Given the description of an element on the screen output the (x, y) to click on. 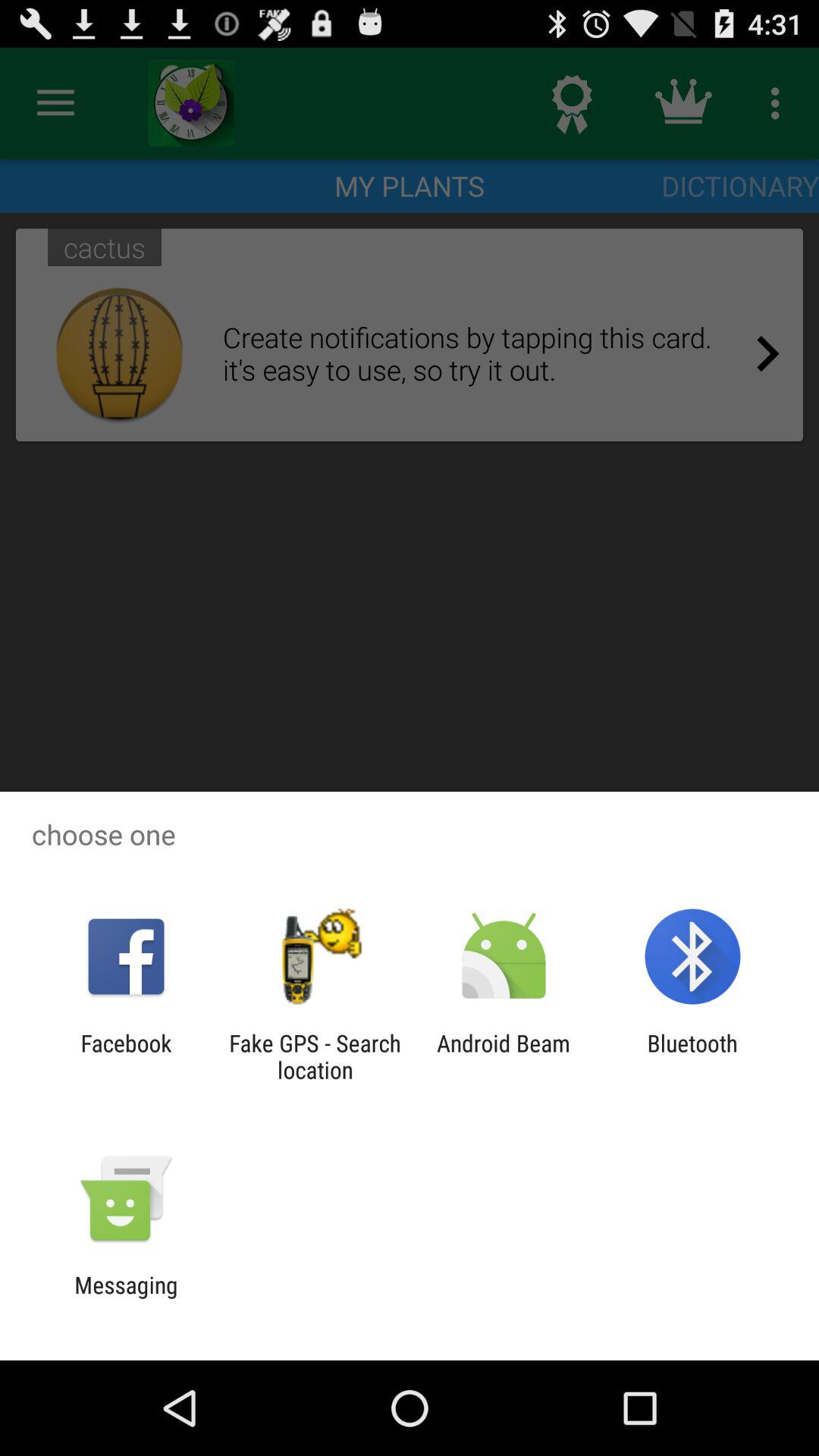
turn off the item next to facebook icon (314, 1056)
